Given the description of an element on the screen output the (x, y) to click on. 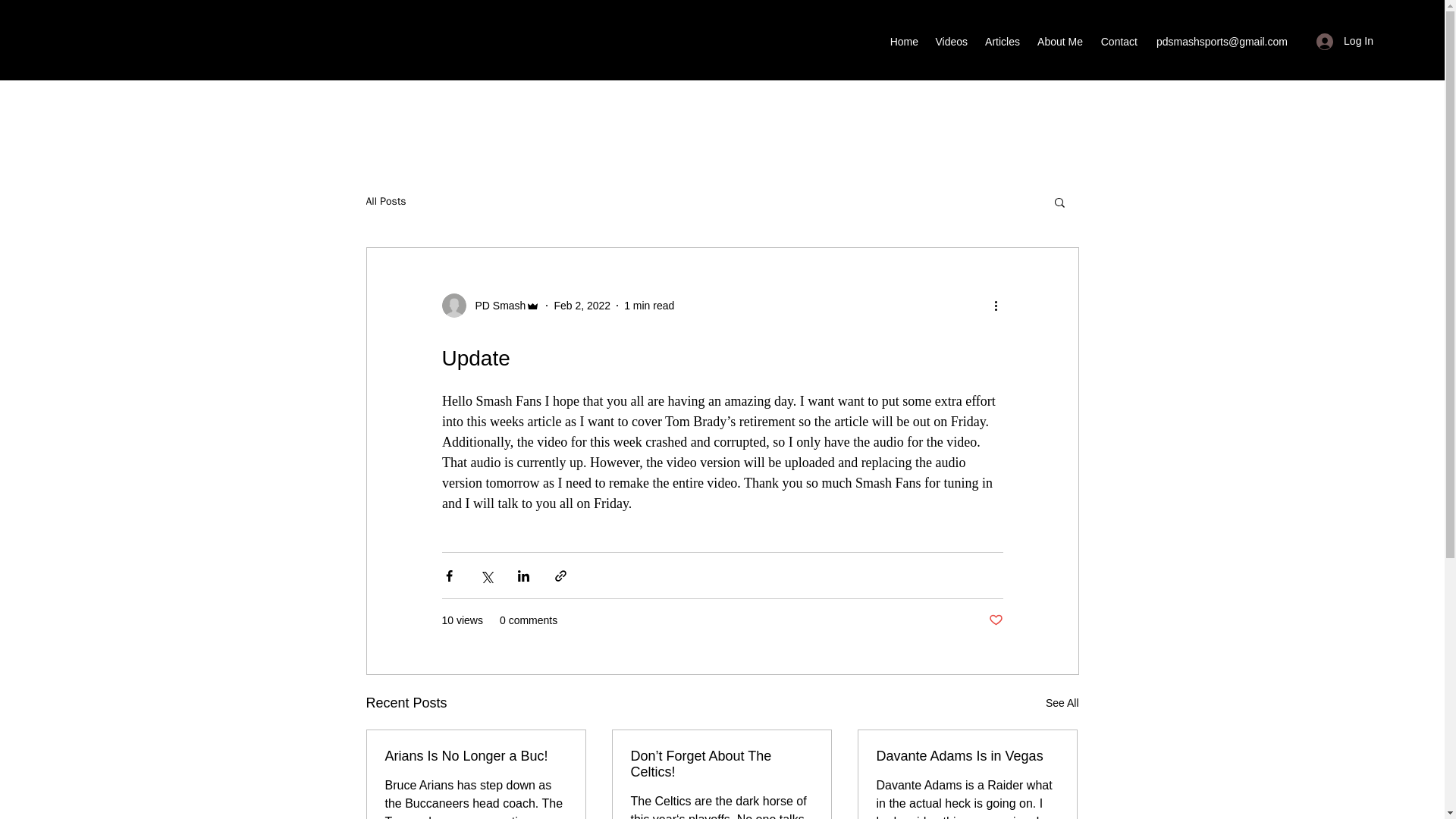
1 min read (649, 304)
Davante Adams Is in Vegas (967, 756)
All Posts (385, 201)
Arians Is No Longer a Buc! (476, 756)
Feb 2, 2022 (581, 304)
Articles (1001, 41)
Log In (1345, 41)
Videos (950, 41)
See All (1061, 703)
Contact (1117, 41)
Post not marked as liked (995, 620)
PD Smash (490, 305)
Home (903, 41)
About Me (1058, 41)
PD Smash (495, 304)
